Given the description of an element on the screen output the (x, y) to click on. 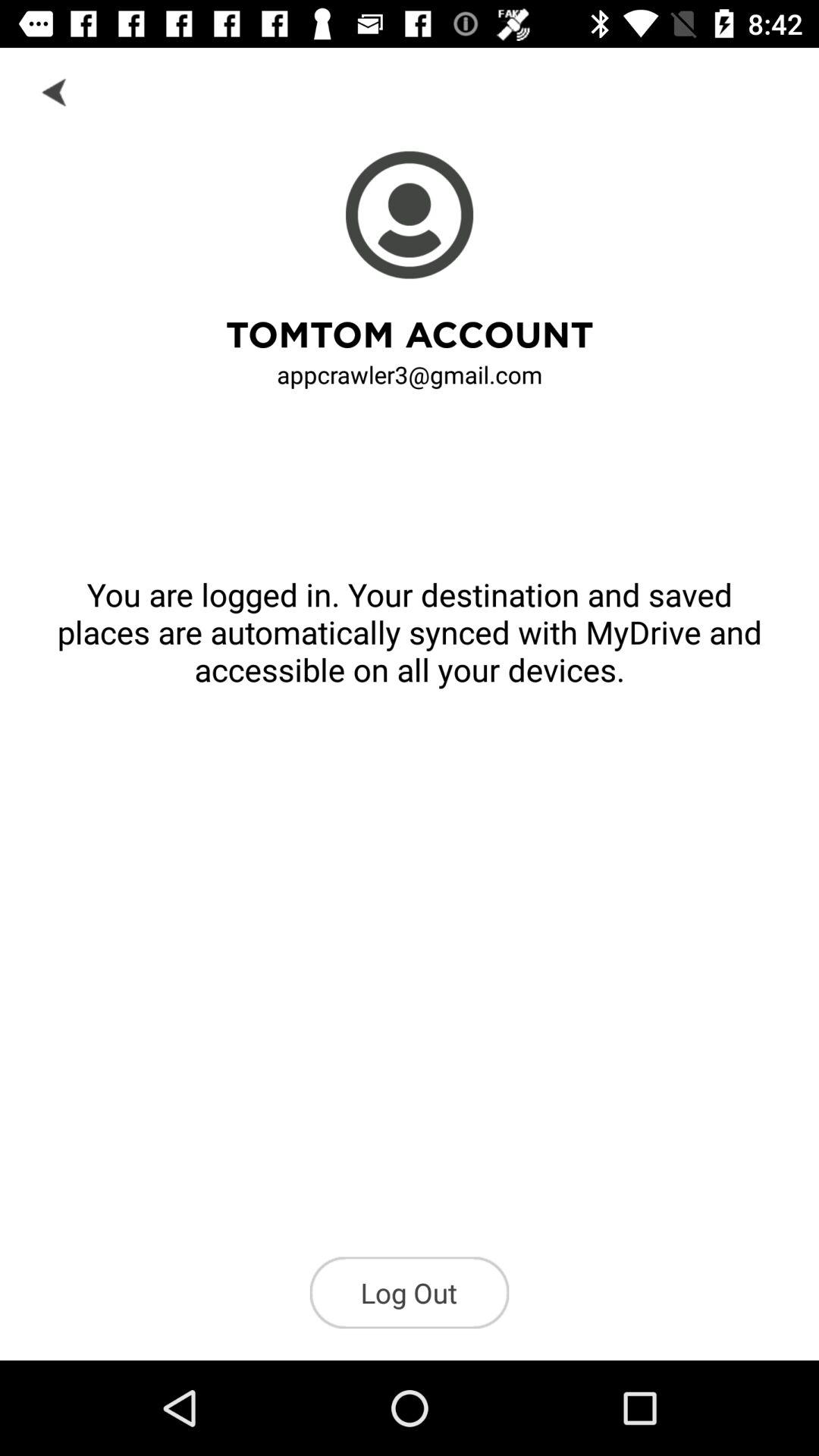
press the item below the you are logged (409, 1292)
